Given the description of an element on the screen output the (x, y) to click on. 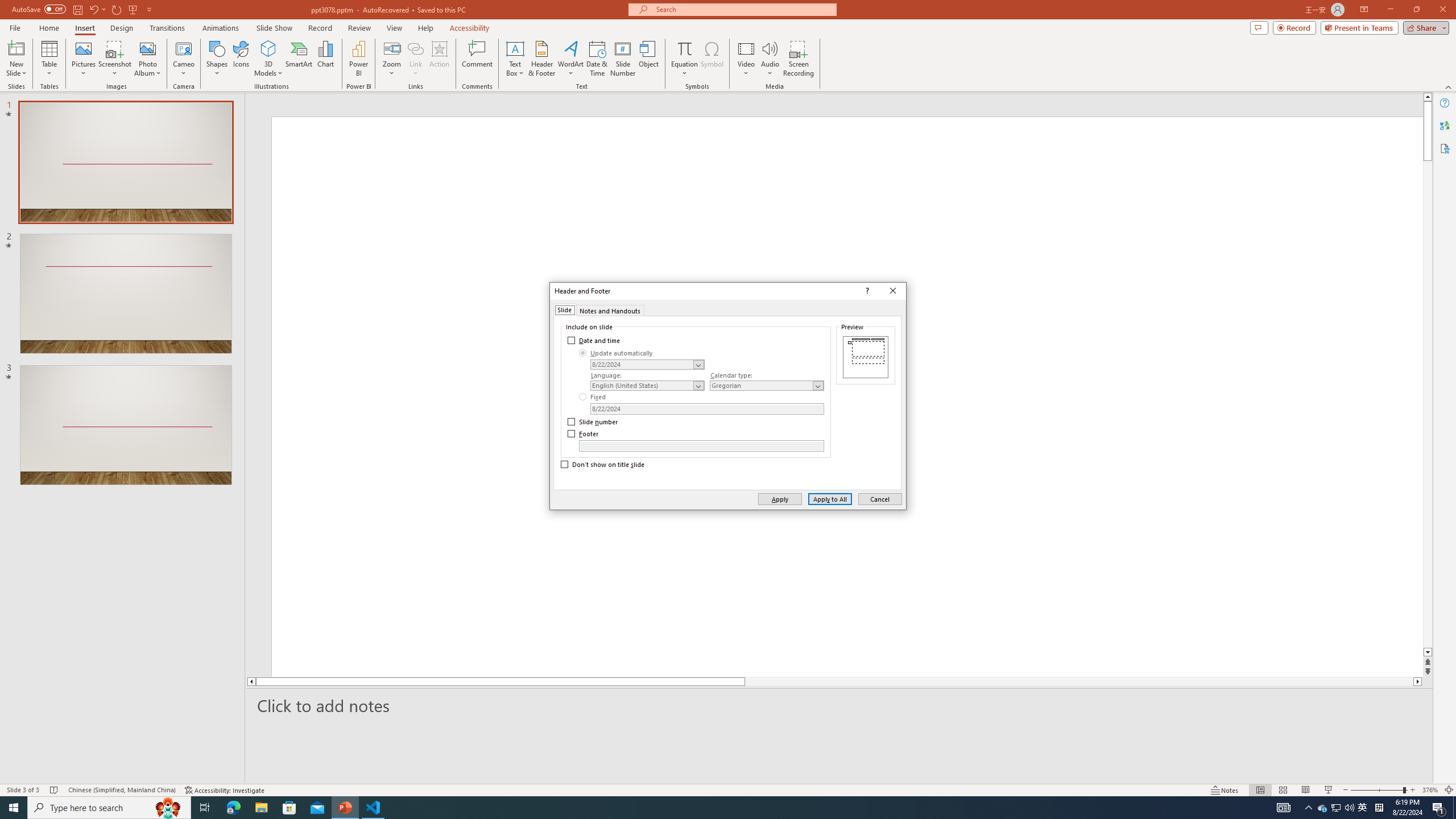
Object... (649, 58)
Action (439, 58)
New Photo Album... (147, 48)
Slide number (592, 421)
Symbol... (711, 58)
